Given the description of an element on the screen output the (x, y) to click on. 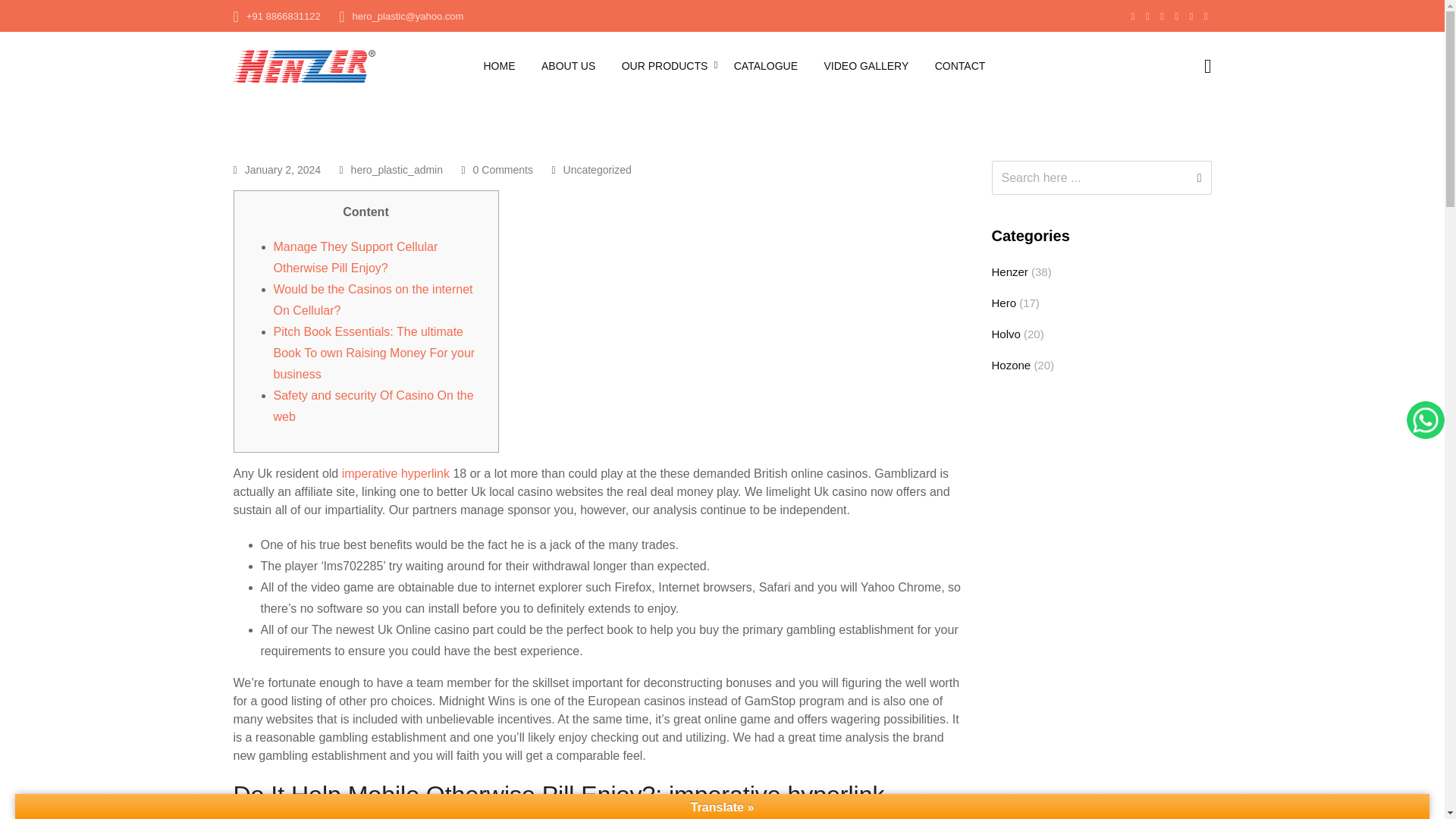
ABOUT US (568, 65)
CONTACT (960, 65)
VIDEO GALLERY (866, 65)
CATALOGUE (765, 65)
OUR PRODUCTS (664, 65)
